Given the description of an element on the screen output the (x, y) to click on. 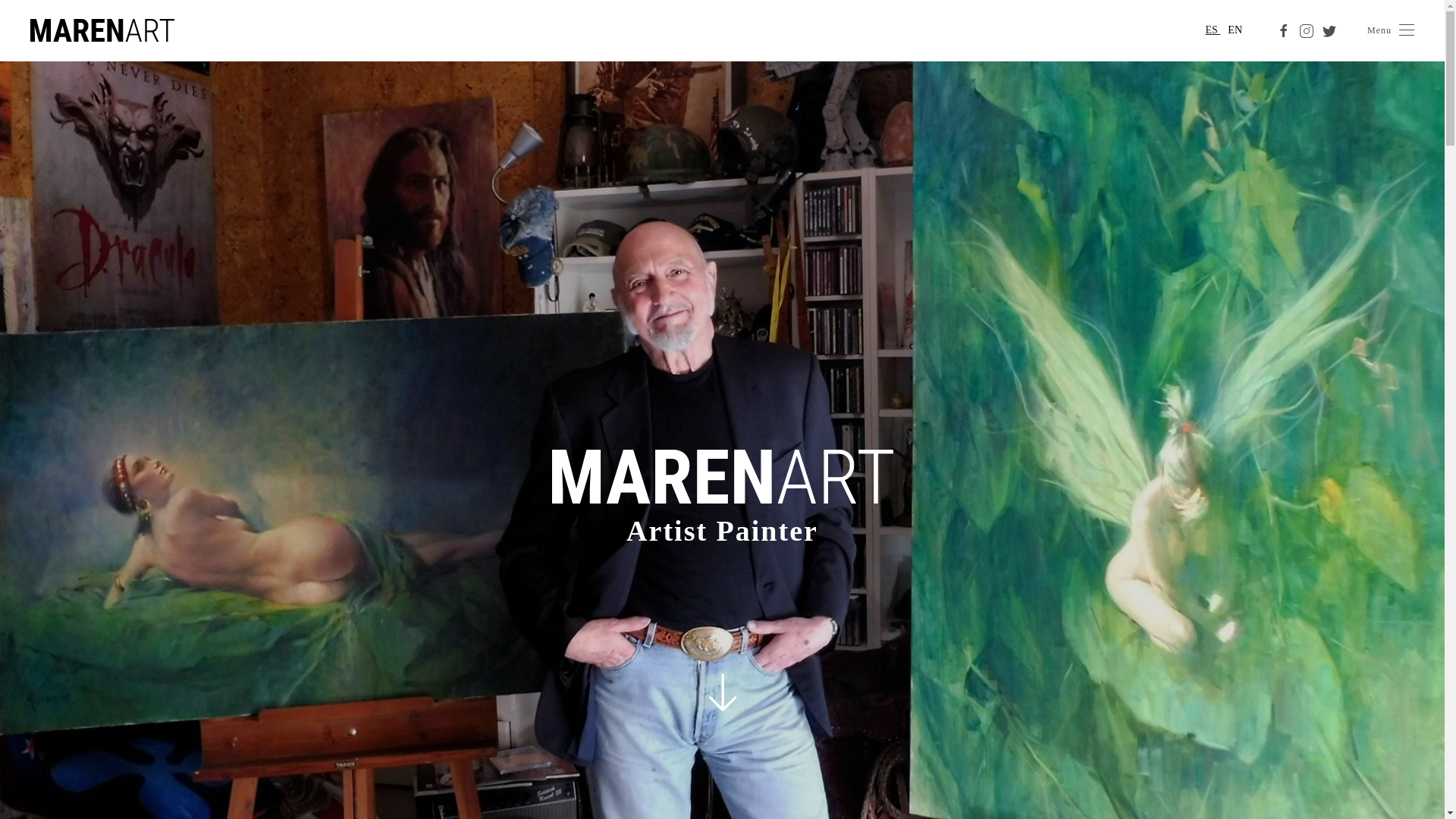
Menu (1390, 30)
EN (1234, 30)
Artist Painter (721, 531)
ES (1212, 30)
